Given the description of an element on the screen output the (x, y) to click on. 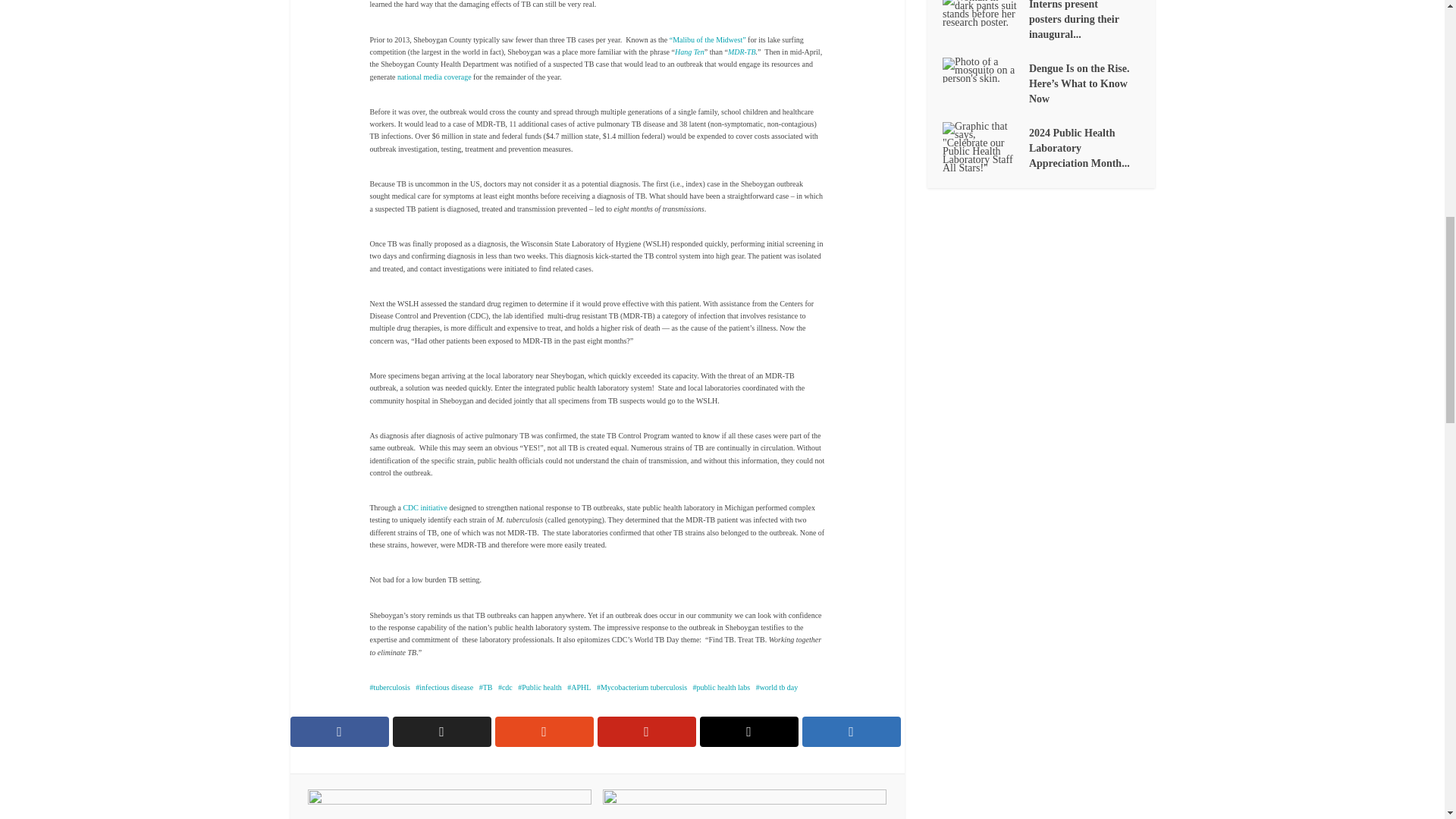
TB (486, 687)
CDC initiative (424, 507)
tuberculosis (389, 687)
national media coverage (434, 76)
Hang Ten (689, 51)
Hang Ten (689, 51)
public health labs (722, 687)
world tb day (776, 687)
infectious disease (443, 687)
Mycobacterium tuberculosis (641, 687)
